Given the description of an element on the screen output the (x, y) to click on. 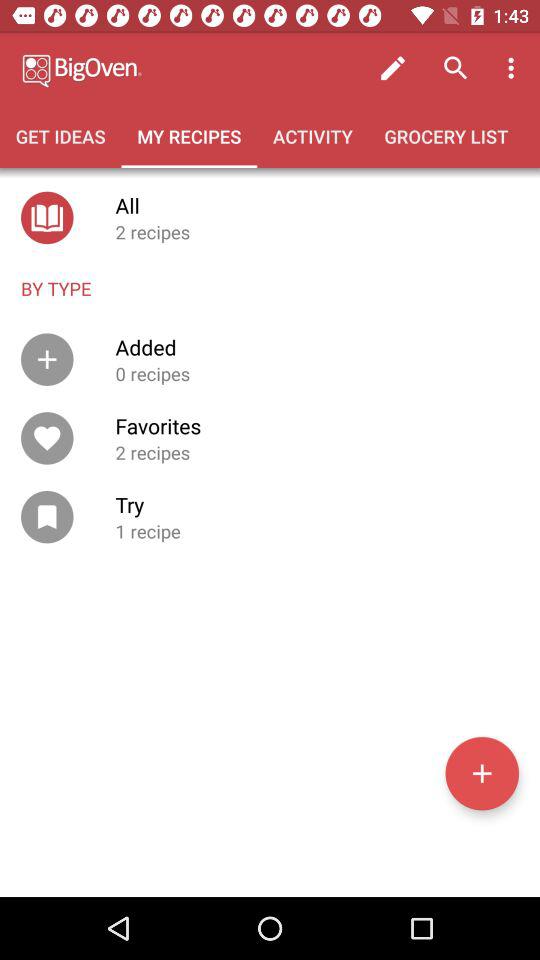
choose the item at the bottom right corner (482, 773)
